Given the description of an element on the screen output the (x, y) to click on. 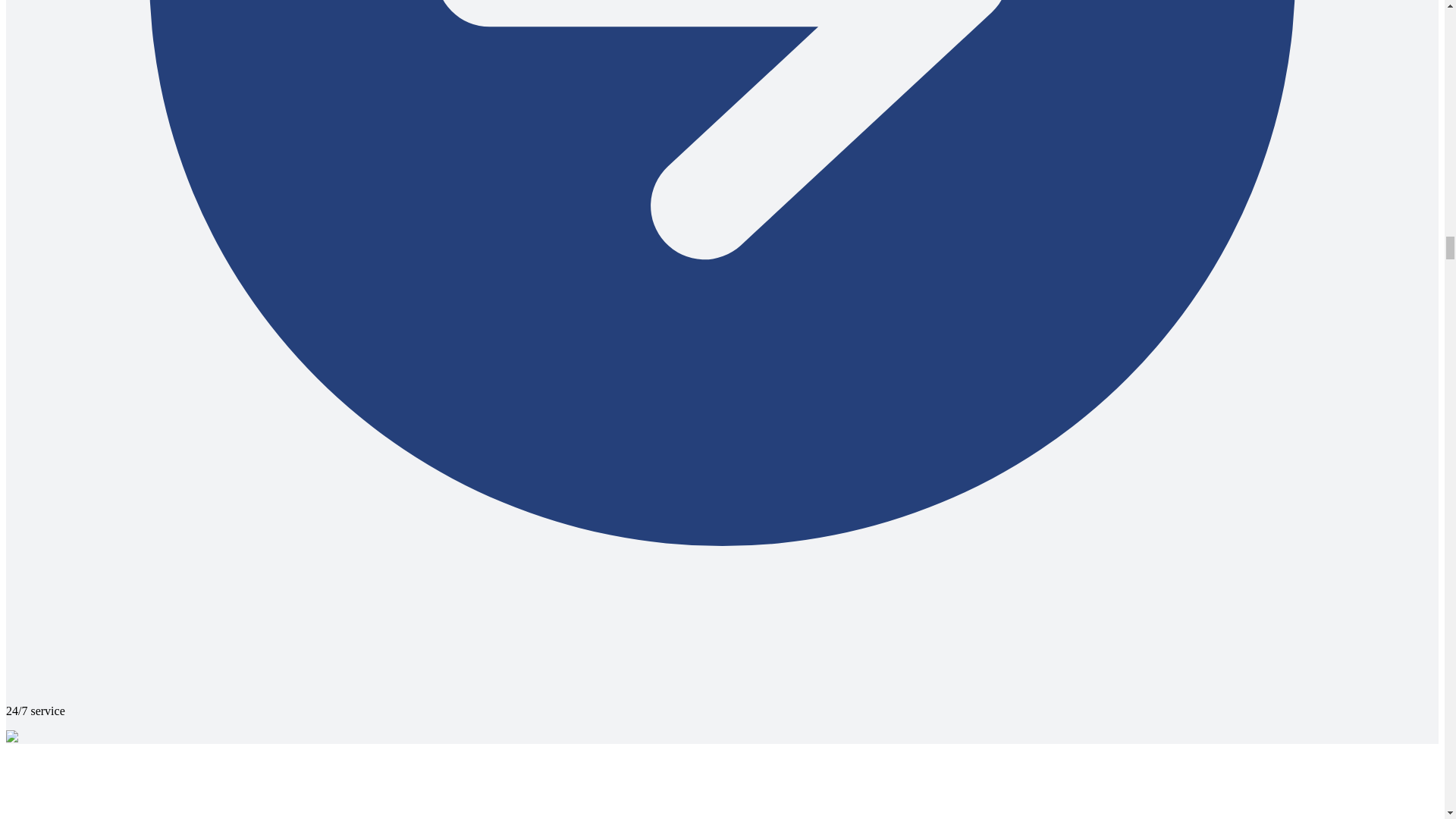
banner title (35, 736)
